Given the description of an element on the screen output the (x, y) to click on. 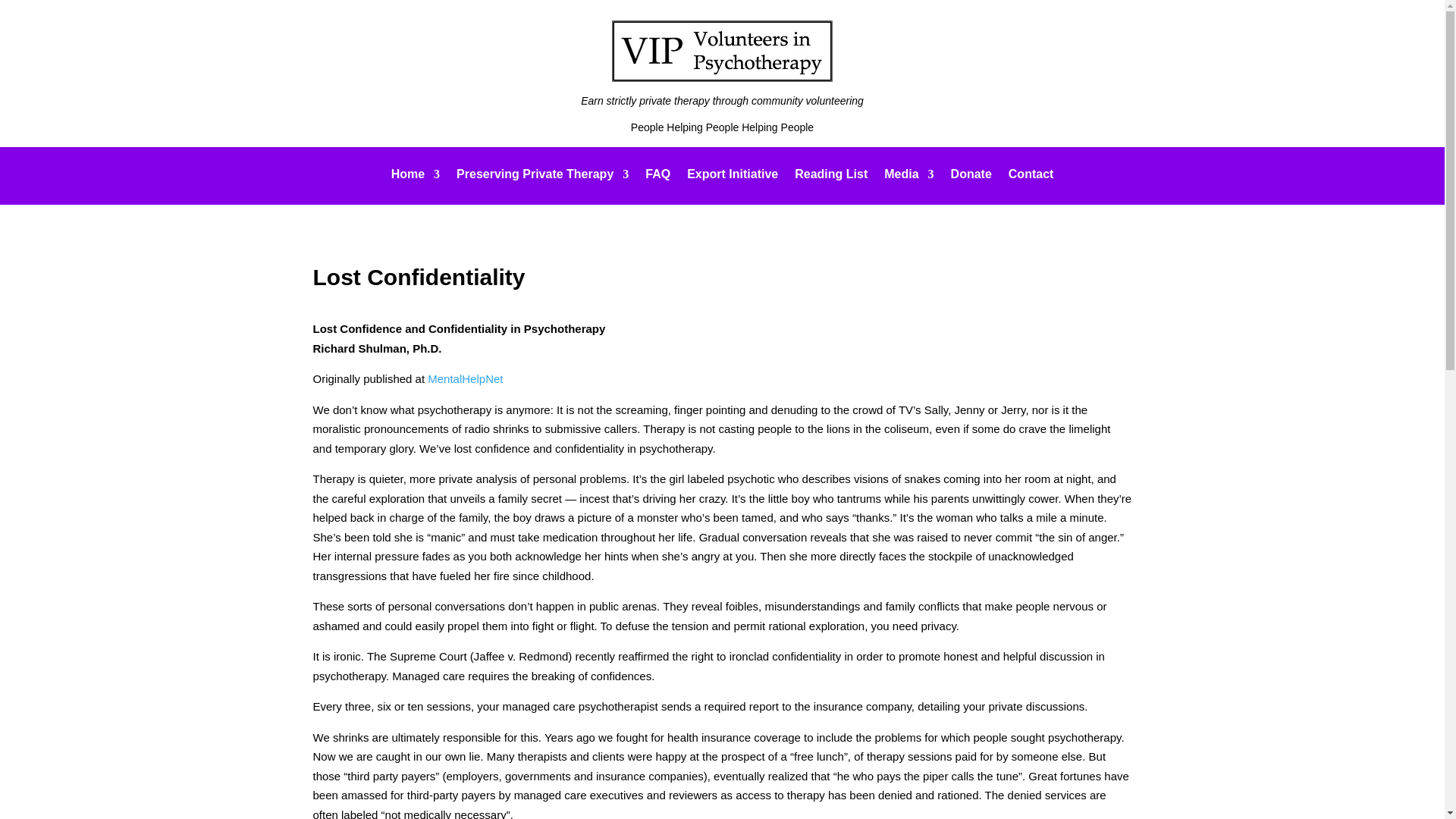
Home (415, 176)
Donate (970, 176)
Preserving Private Therapy (542, 176)
Reading List (830, 176)
FAQ (657, 176)
MentalHelpNet (465, 378)
Contact (1031, 176)
Media (908, 176)
Export Initiative (732, 176)
